Given the description of an element on the screen output the (x, y) to click on. 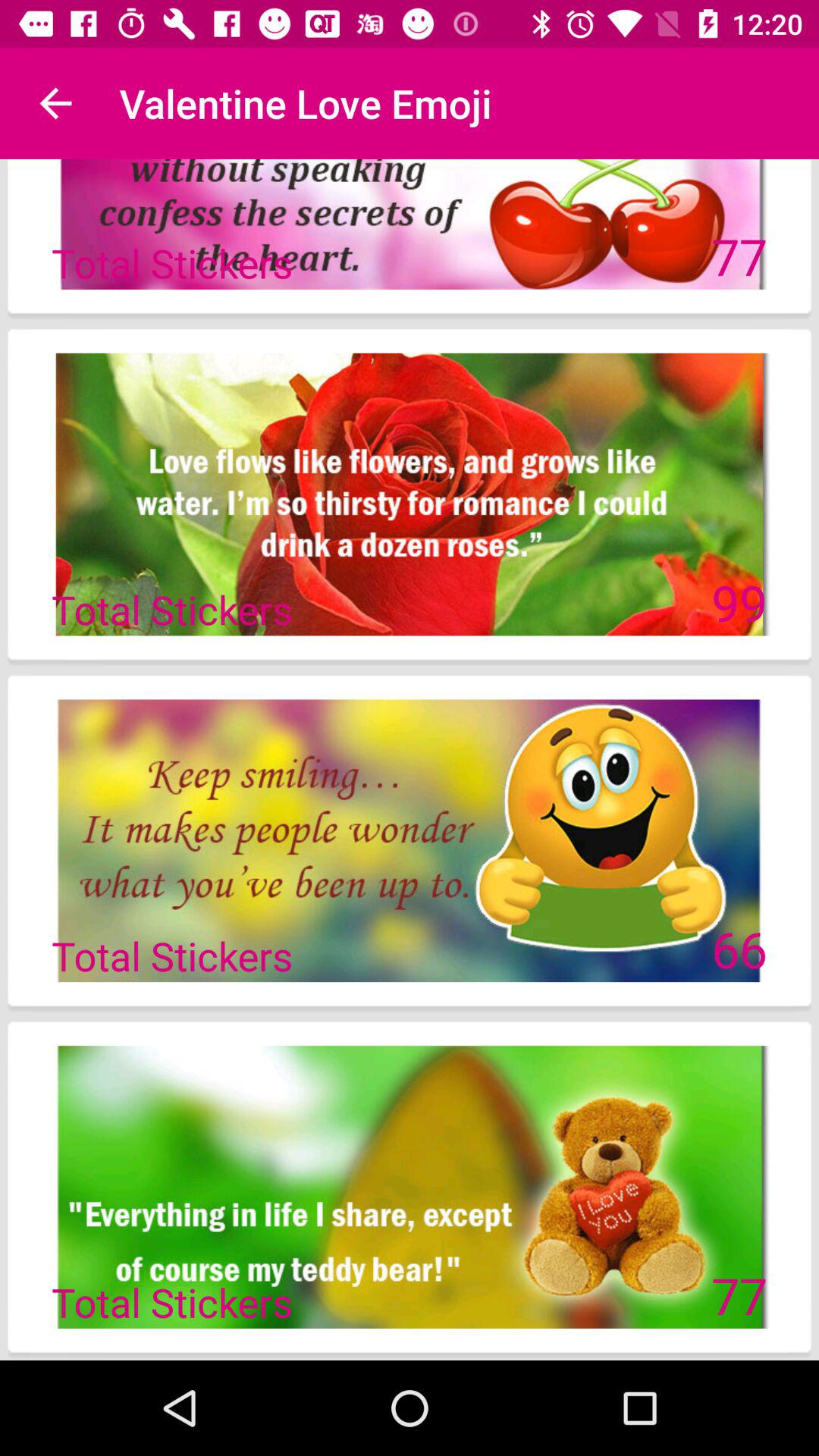
swipe until 66 item (739, 948)
